Given the description of an element on the screen output the (x, y) to click on. 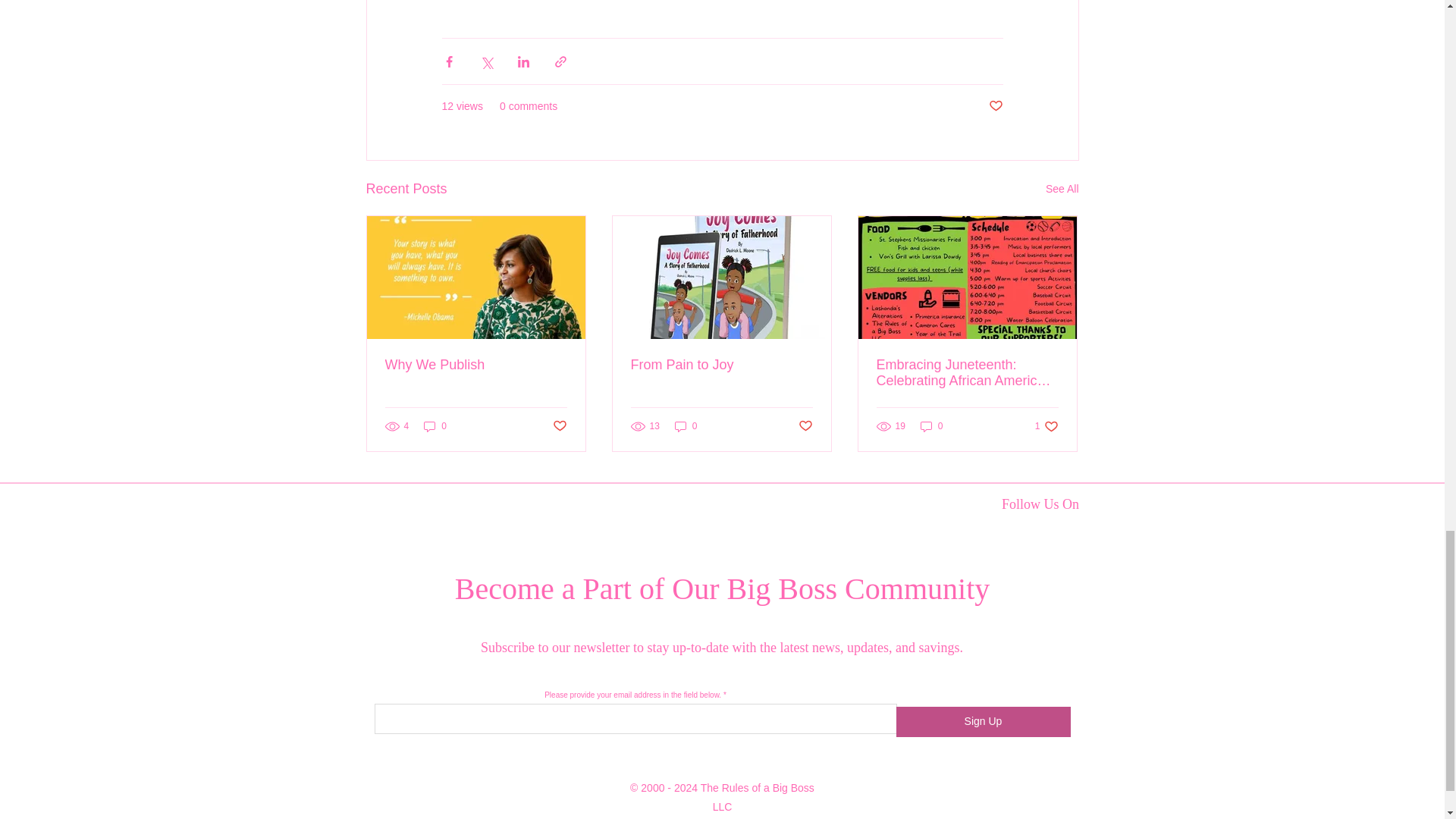
See All (1061, 188)
Why We Publish (476, 365)
Post not marked as liked (995, 106)
